Given the description of an element on the screen output the (x, y) to click on. 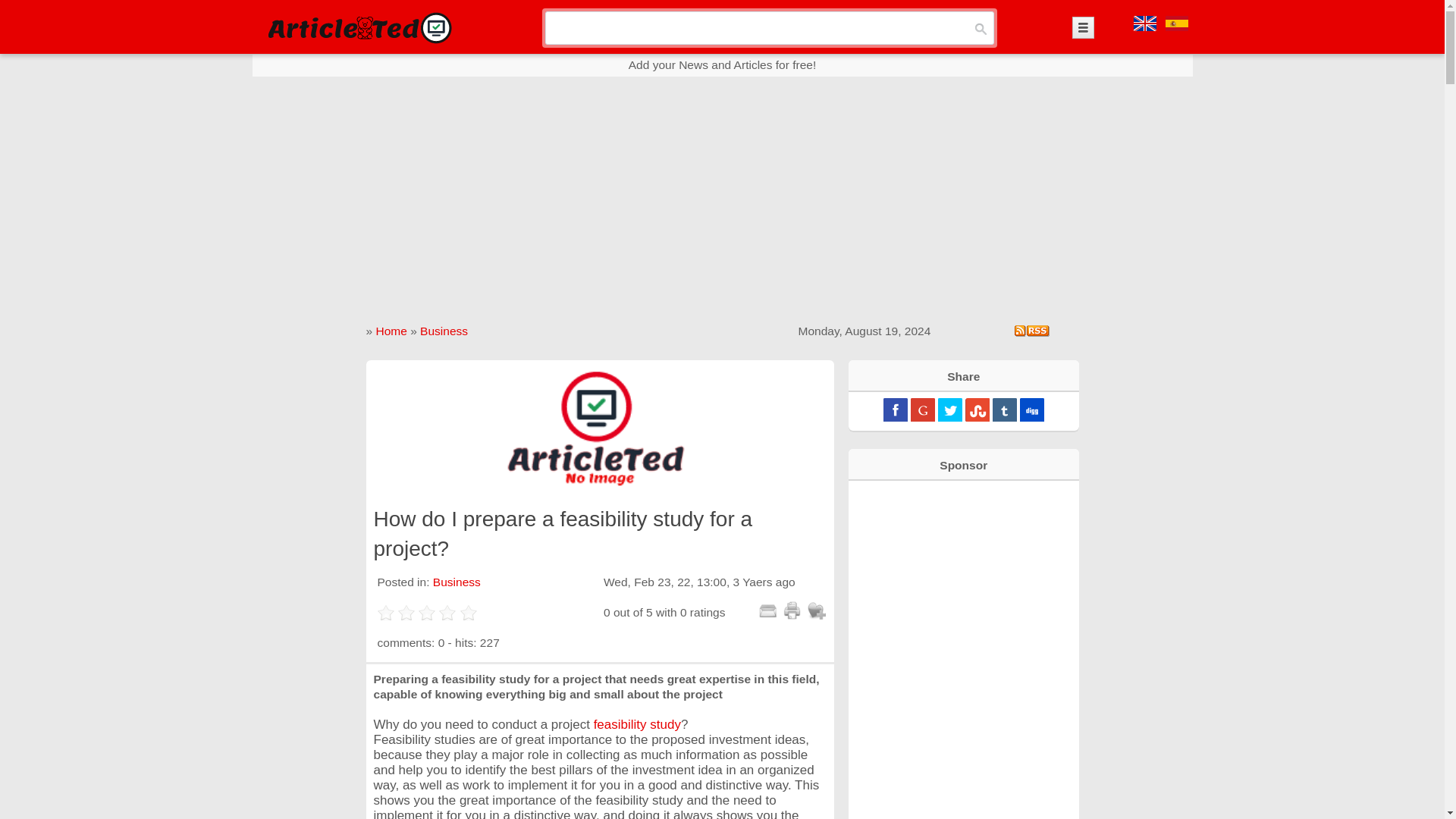
Home (390, 330)
feasibility study (635, 724)
Share this page on twitter (949, 409)
Print This Page (792, 610)
Share this page on googleplus (922, 409)
Recommend this Article (767, 610)
Add To Favorites (816, 610)
Share this page on digg (1031, 409)
Share this page on facebook (895, 409)
Share this page on tumblr (1004, 409)
